Given the description of an element on the screen output the (x, y) to click on. 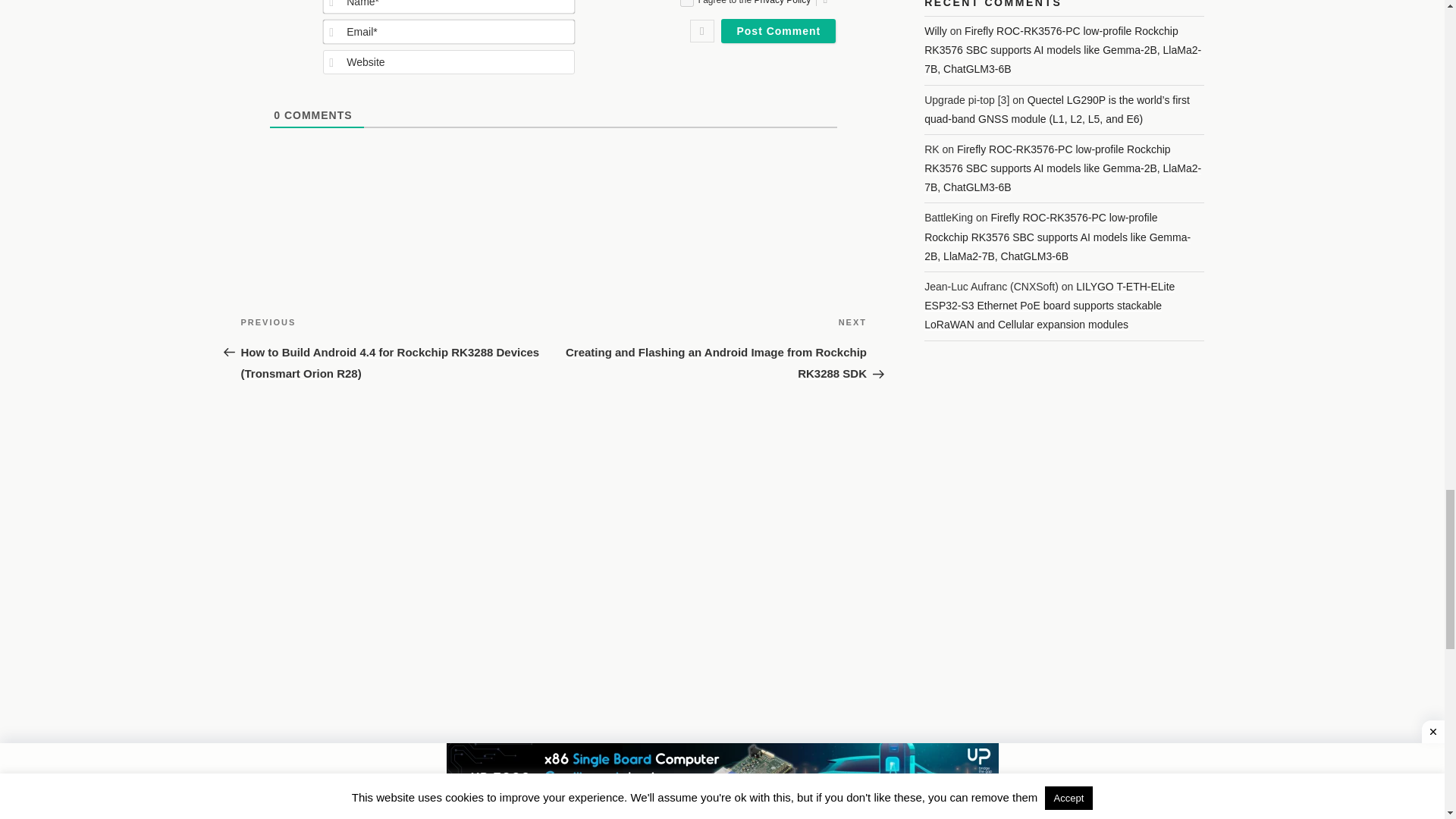
Post Comment (777, 30)
1 (686, 3)
